Given the description of an element on the screen output the (x, y) to click on. 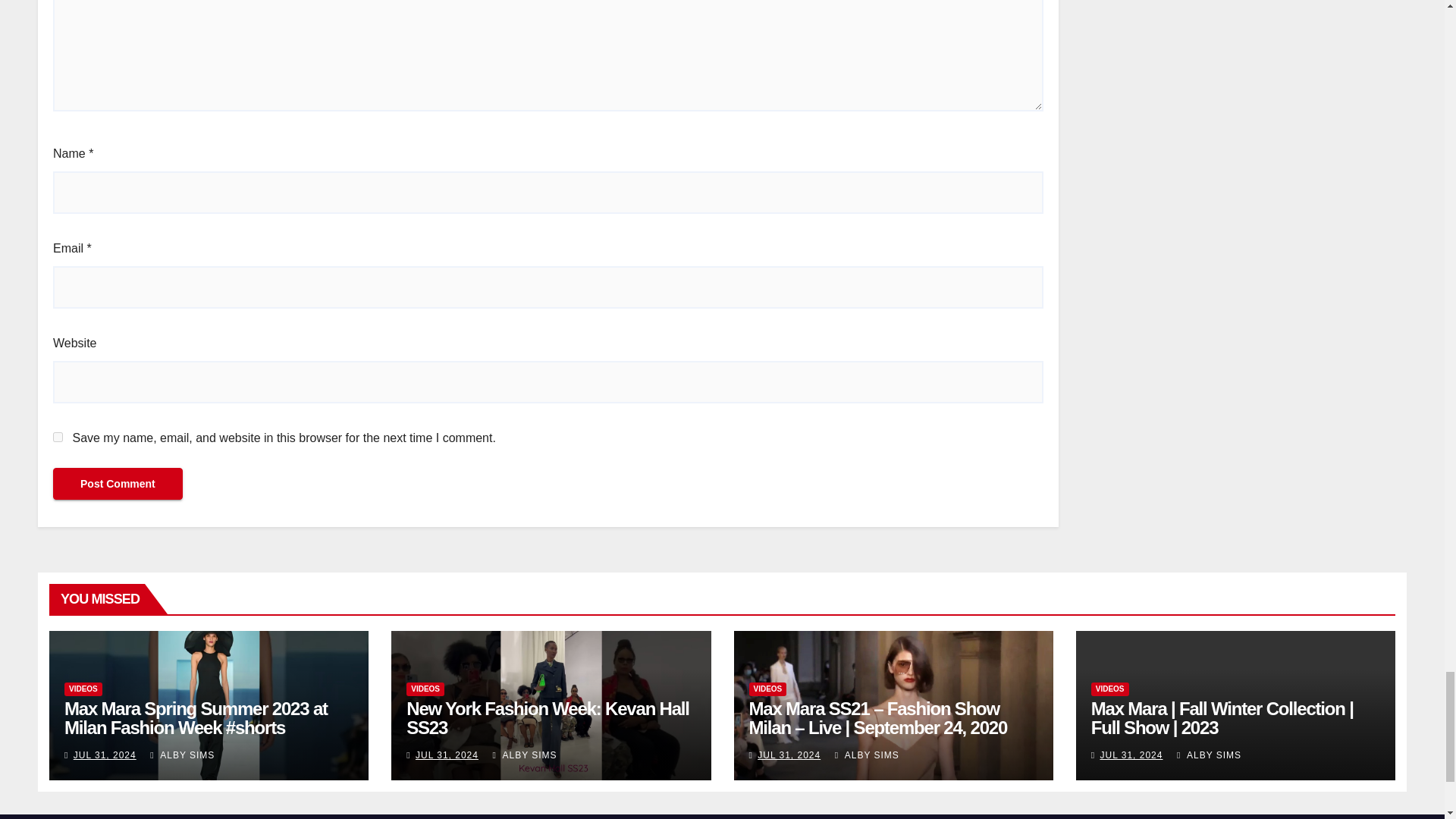
yes (57, 437)
Post Comment (117, 483)
